Given the description of an element on the screen output the (x, y) to click on. 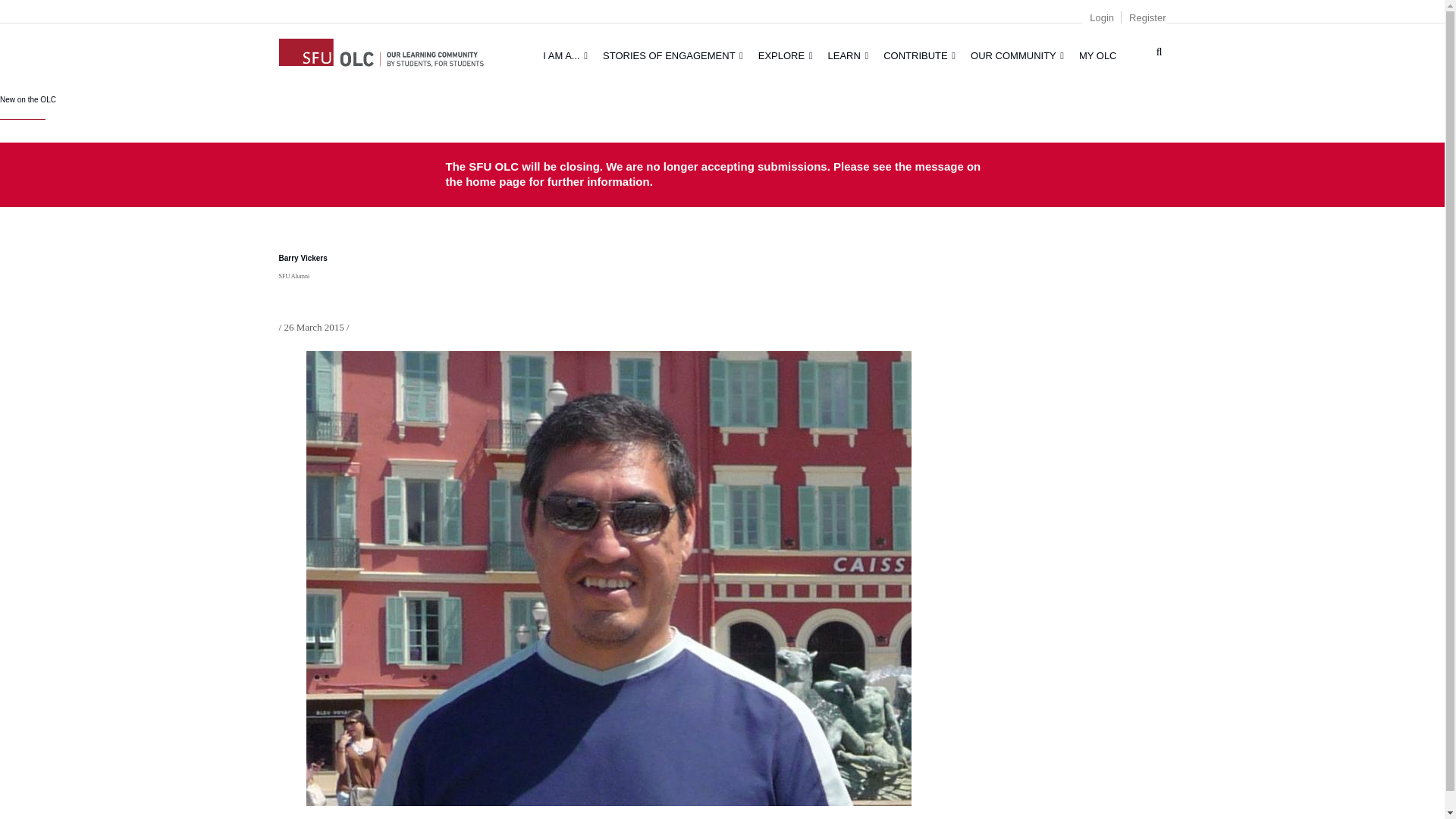
I AM A... (565, 55)
Login (1101, 17)
STORIES OF ENGAGEMENT (673, 55)
Register (1147, 17)
EXPLORE (786, 55)
OUR COMMUNITY (1016, 55)
Home (381, 50)
LEARN (848, 55)
CONTRIBUTE (919, 55)
